Given the description of an element on the screen output the (x, y) to click on. 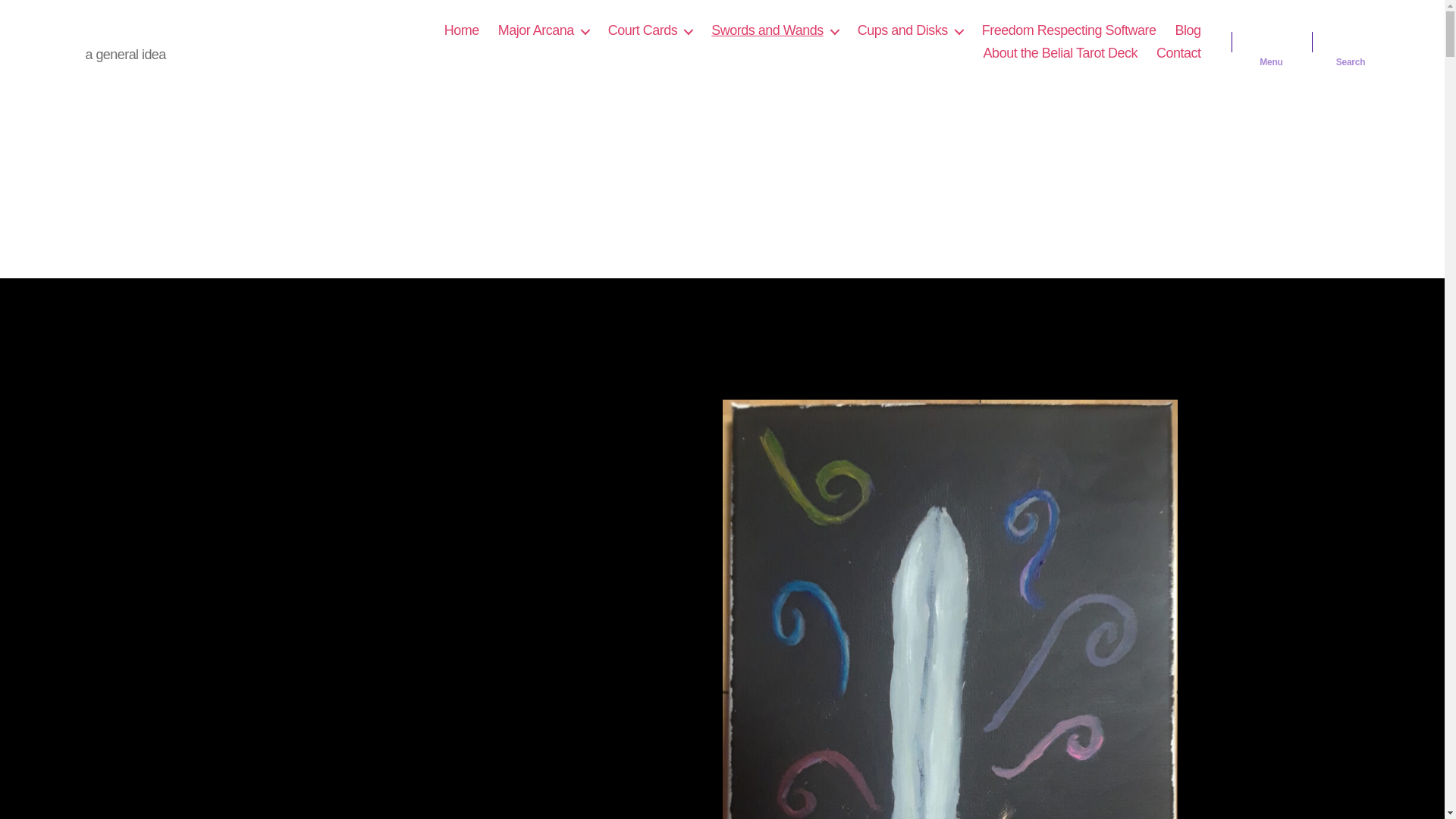
Tarot Card Meanings (167, 30)
Home (461, 30)
Major Arcana (543, 30)
Court Cards (650, 30)
